Given the description of an element on the screen output the (x, y) to click on. 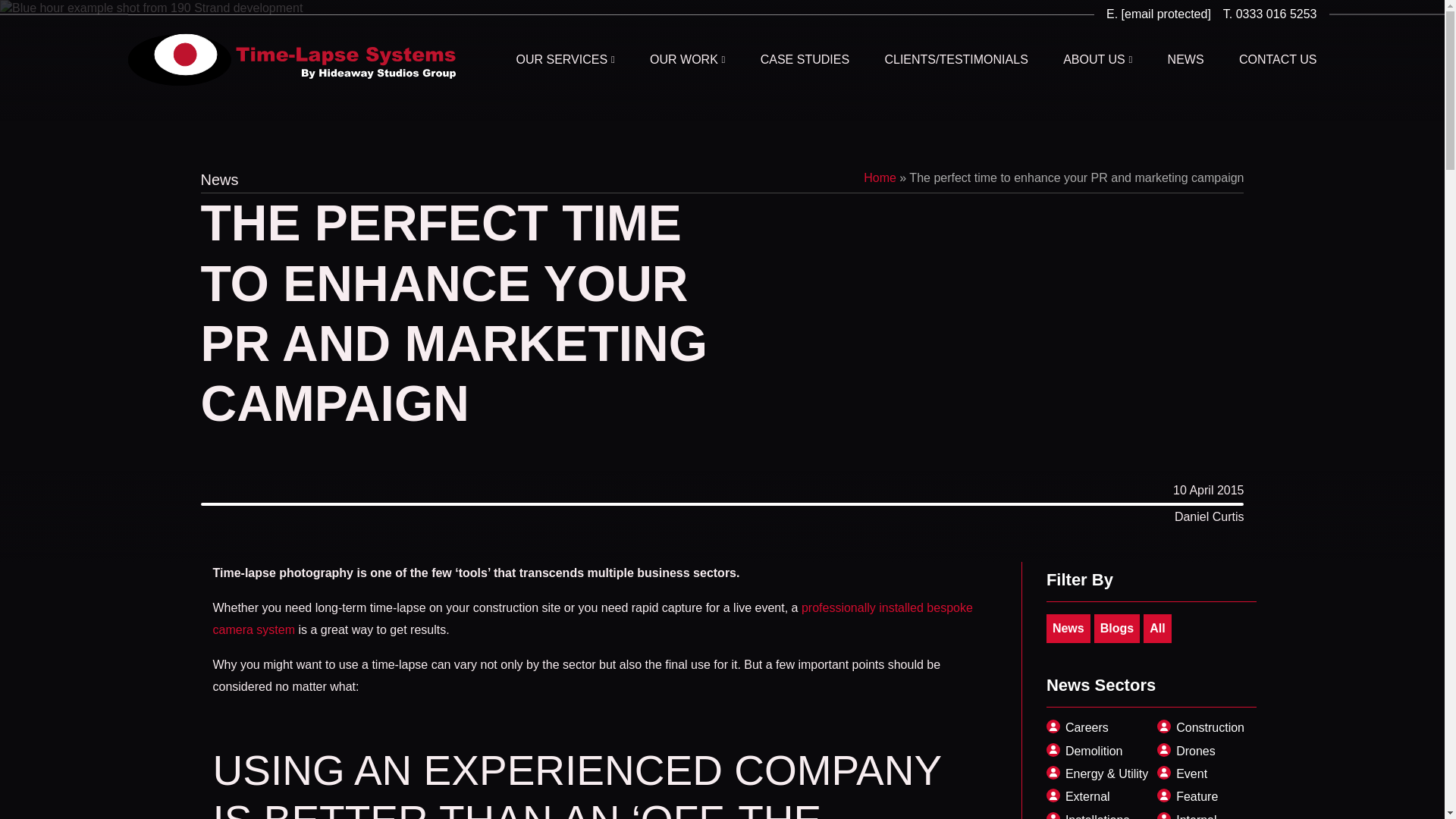
CASE STUDIES (804, 60)
Construction (1209, 727)
Demolition (1098, 751)
All (1156, 628)
Time Lapse Systems by Hideaway Studios Group (291, 59)
T. 0333 016 5253 (1264, 13)
Careers (1098, 727)
OUR WORK (687, 60)
OUR SERVICES (564, 60)
